Given the description of an element on the screen output the (x, y) to click on. 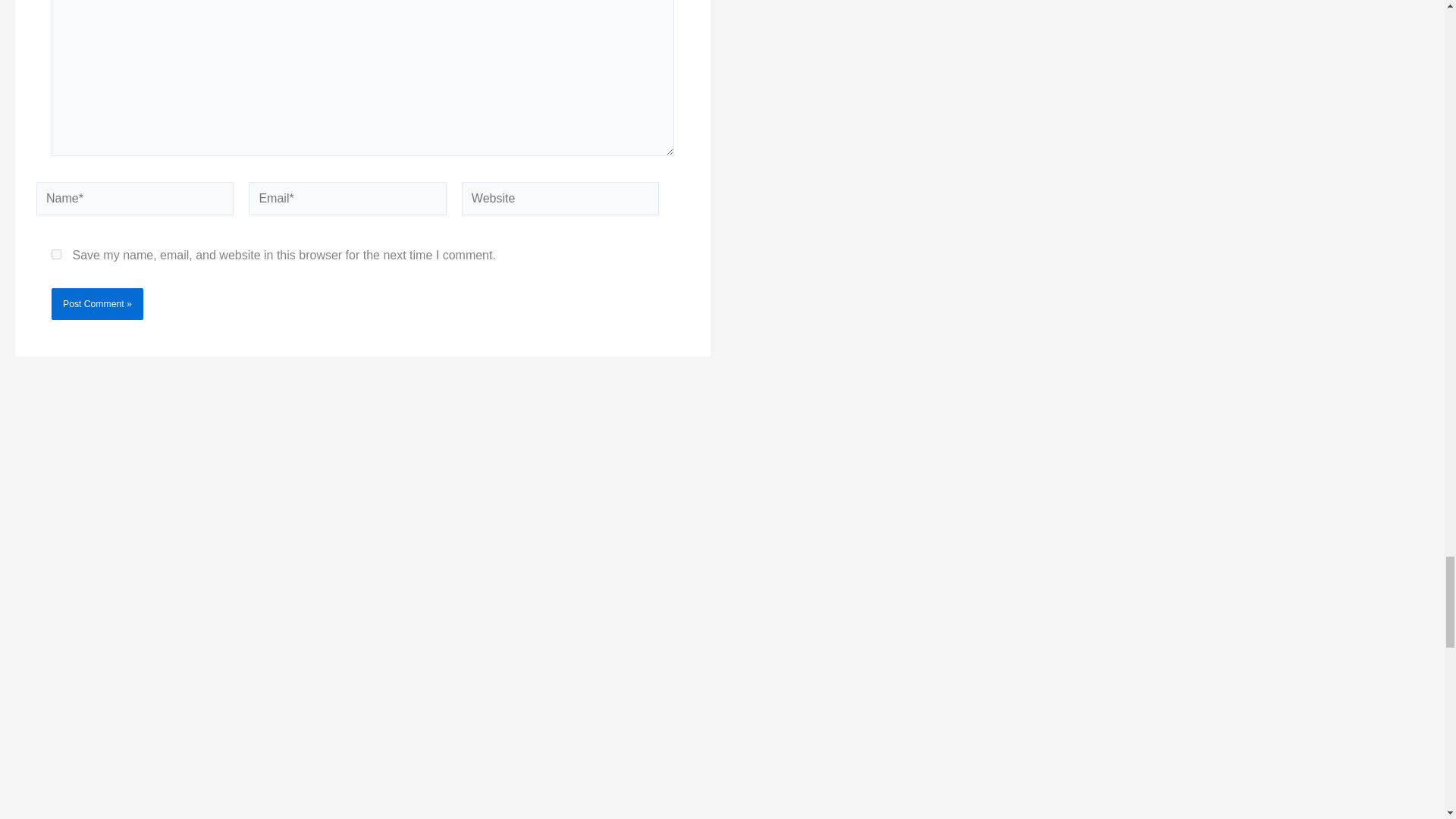
yes (55, 254)
